Given the description of an element on the screen output the (x, y) to click on. 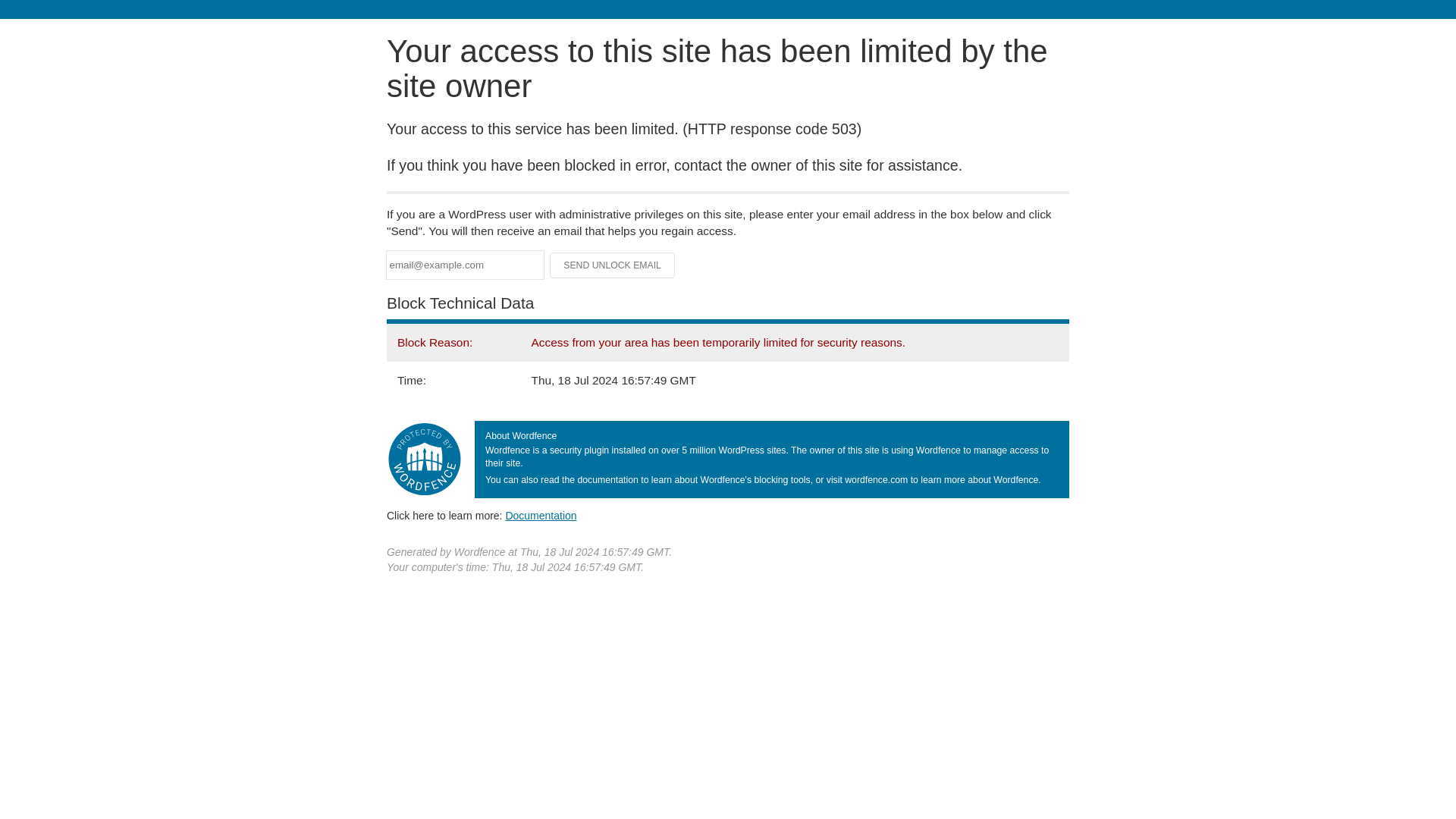
Documentation (540, 515)
Send Unlock Email (612, 265)
Send Unlock Email (612, 265)
